Given the description of an element on the screen output the (x, y) to click on. 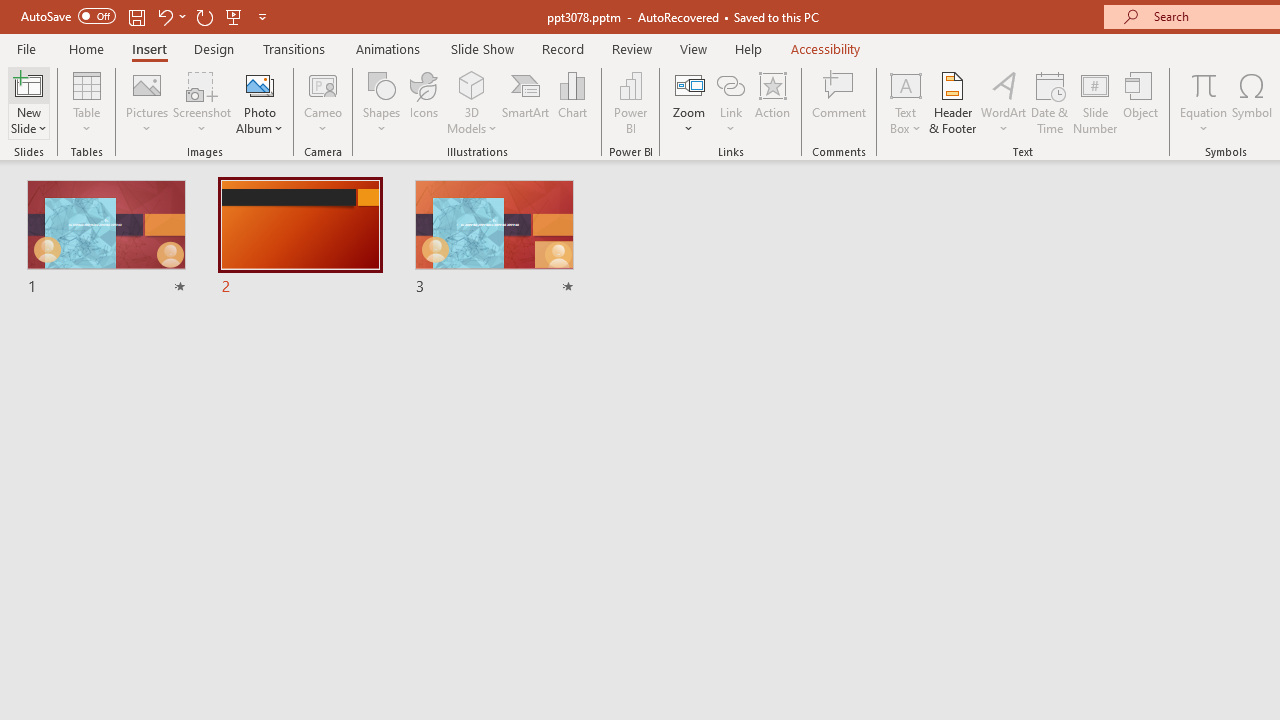
Object... (1141, 102)
Link (731, 102)
Date & Time... (1050, 102)
Slide Number (1095, 102)
